Given the description of an element on the screen output the (x, y) to click on. 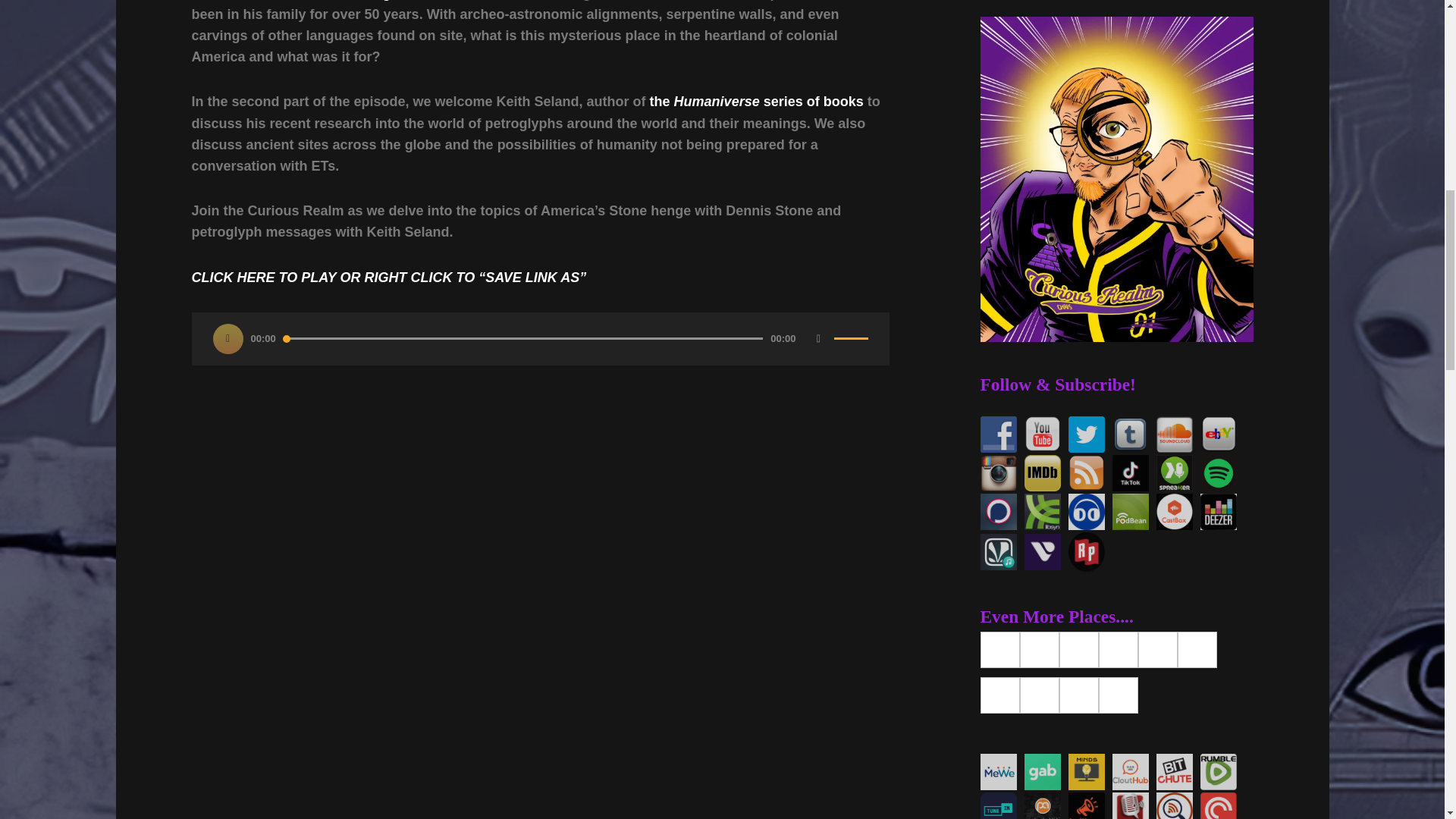
Mute (818, 338)
the Humaniverse series of books (756, 101)
Play (227, 338)
